Given the description of an element on the screen output the (x, y) to click on. 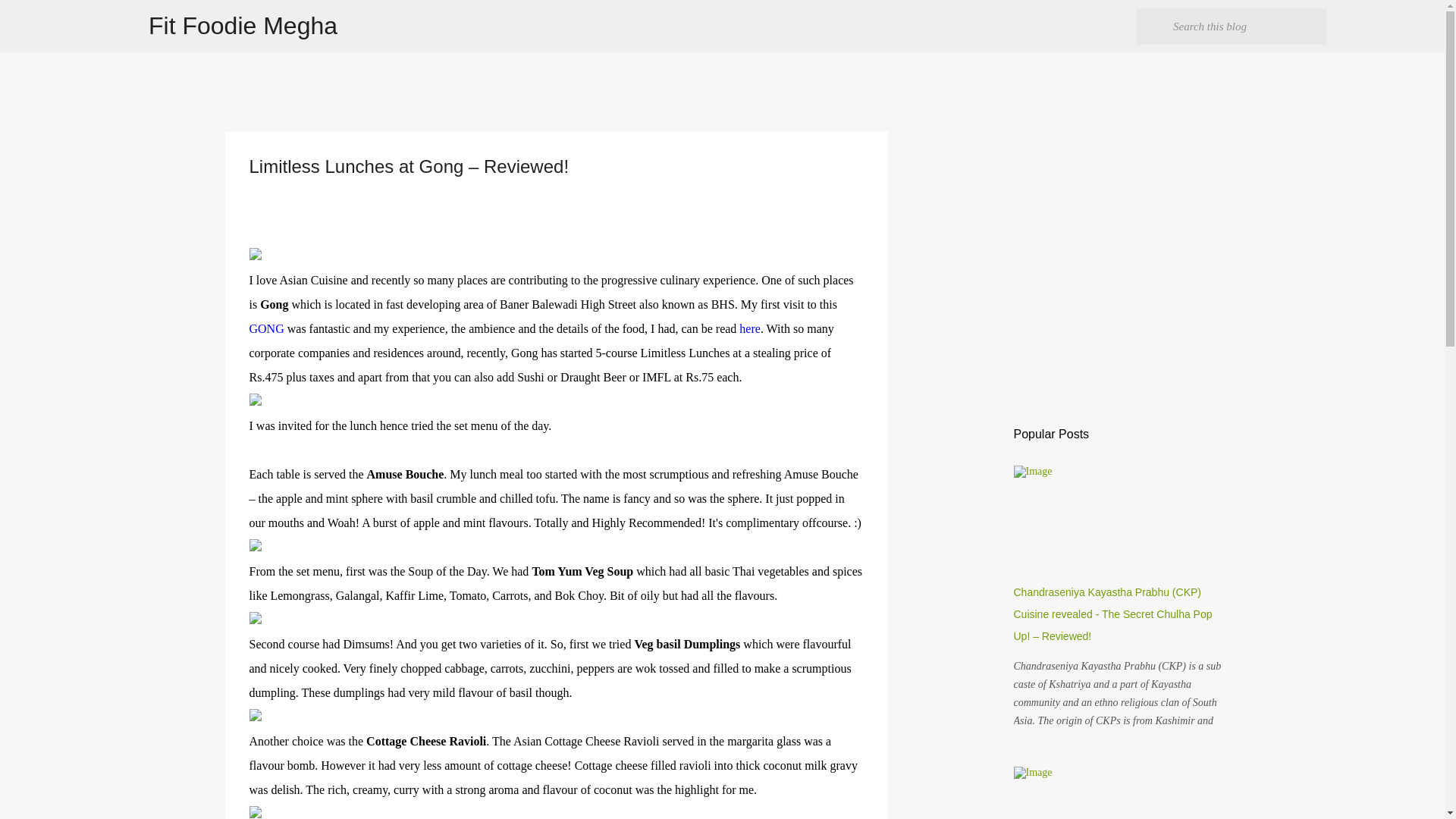
here (749, 328)
Fit Foodie Megha (242, 25)
GONG (265, 328)
